Given the description of an element on the screen output the (x, y) to click on. 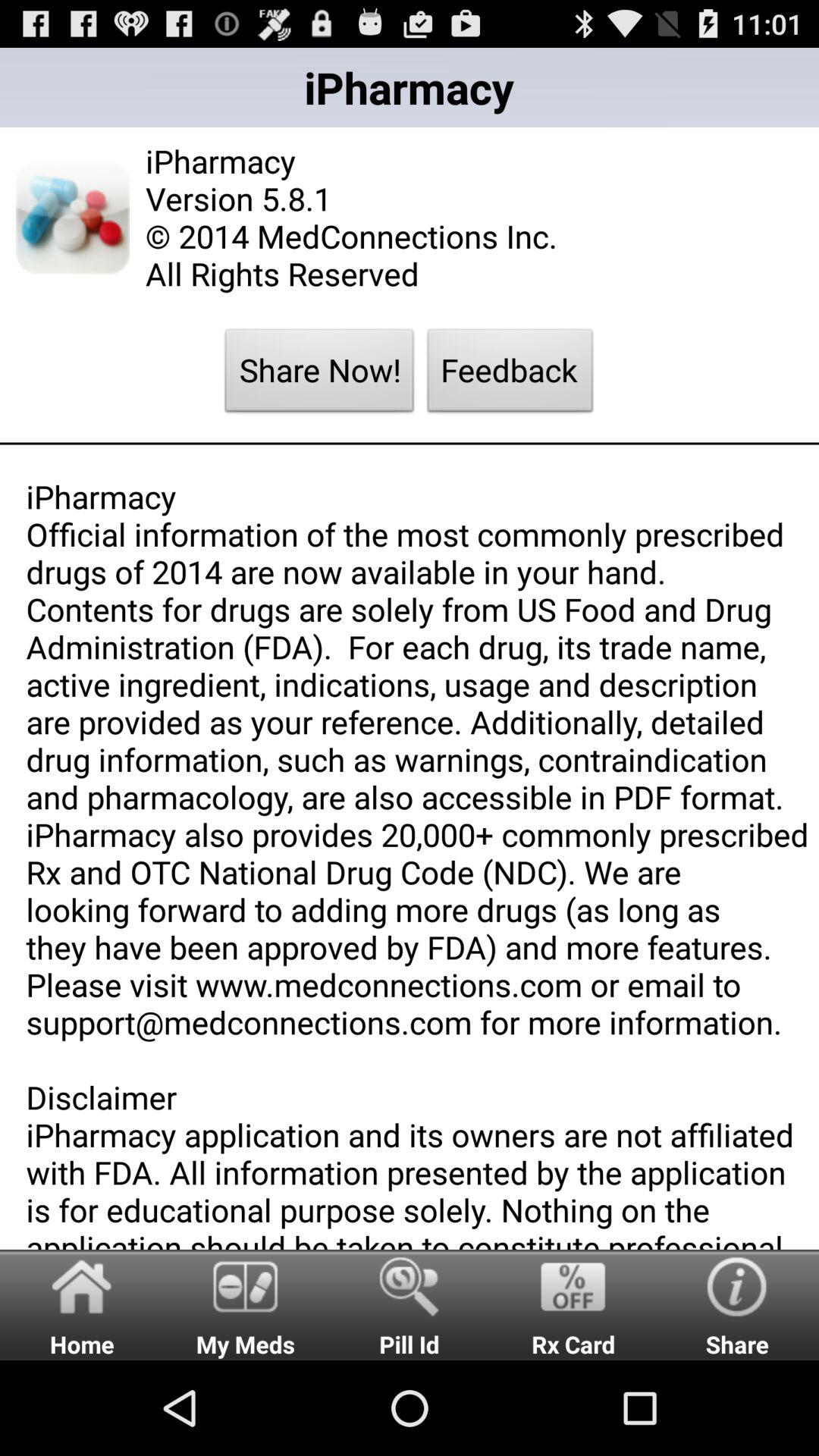
tap app below the ipharmacy official information icon (409, 1304)
